Given the description of an element on the screen output the (x, y) to click on. 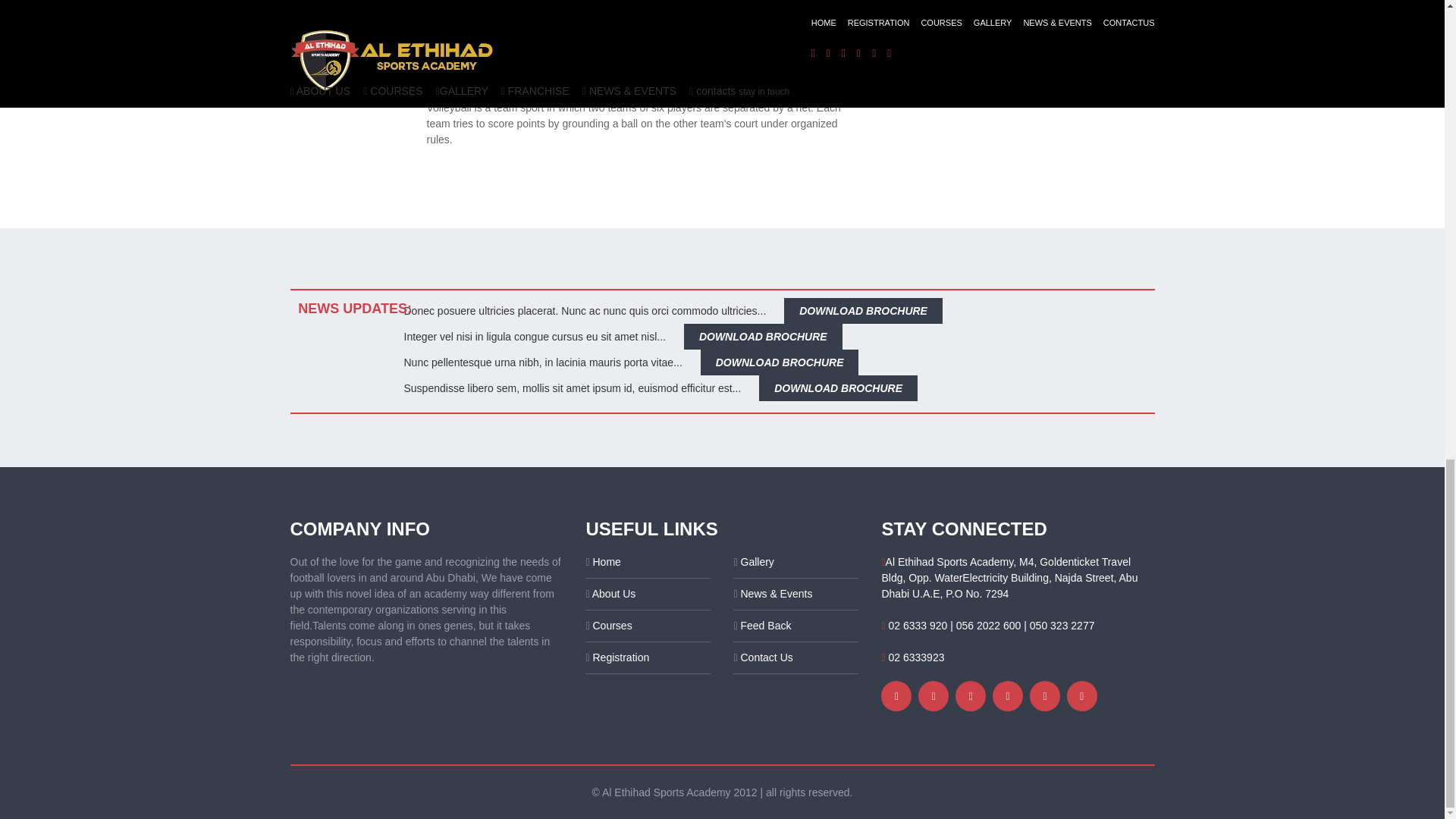
DOWNLOAD BROCHURE (837, 388)
DOWNLOAD BROCHURE (763, 336)
DOWNLOAD BROCHURE (779, 362)
DOWNLOAD BROCHURE (863, 310)
Join (517, 68)
About Us (614, 593)
Home (606, 562)
